Given the description of an element on the screen output the (x, y) to click on. 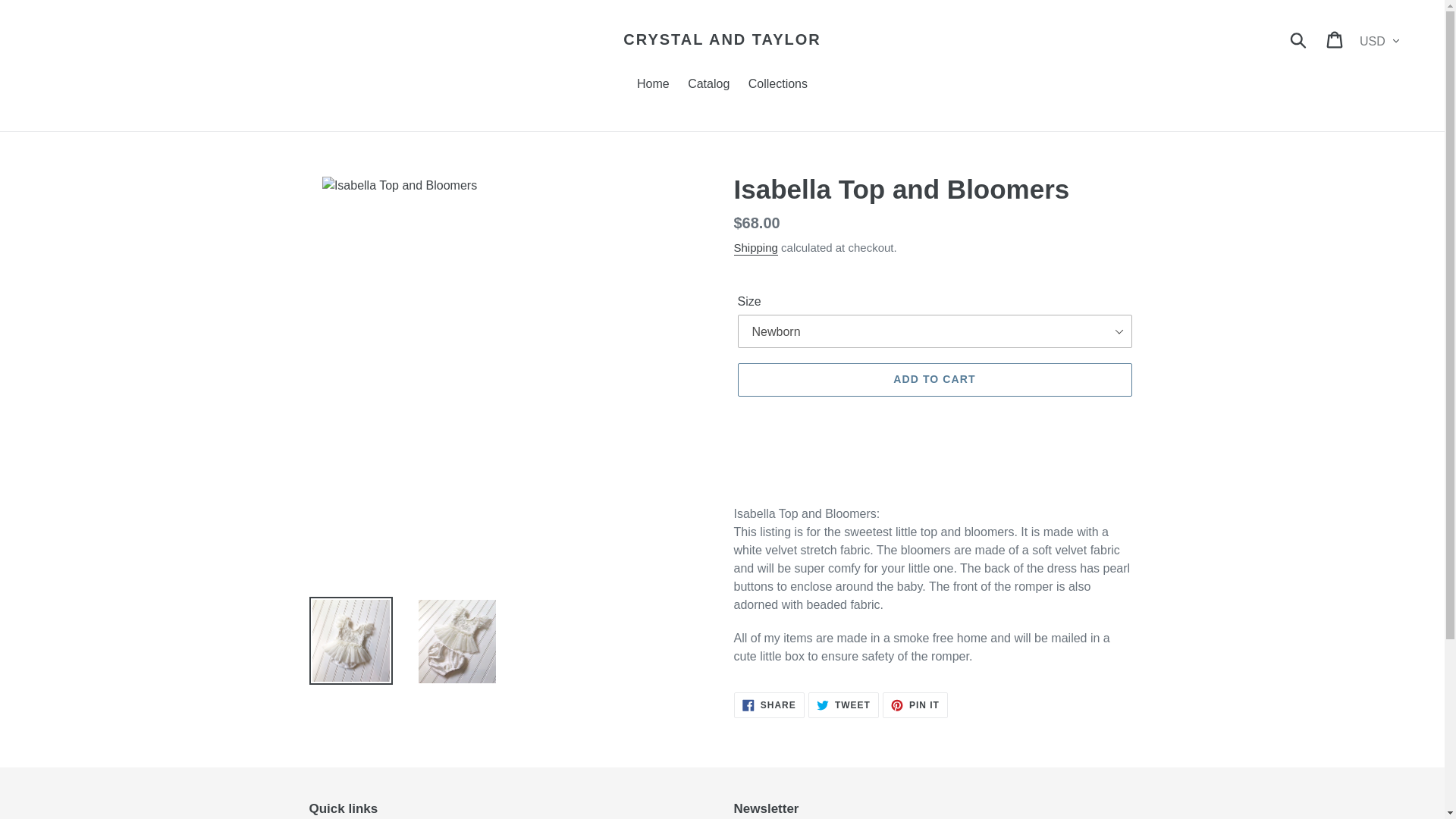
Catalog (707, 85)
Home (652, 85)
ADD TO CART (769, 705)
Collections (843, 705)
Cart (933, 379)
CRYSTAL AND TAYLOR (778, 85)
Shipping (914, 705)
Submit (1335, 39)
